Given the description of an element on the screen output the (x, y) to click on. 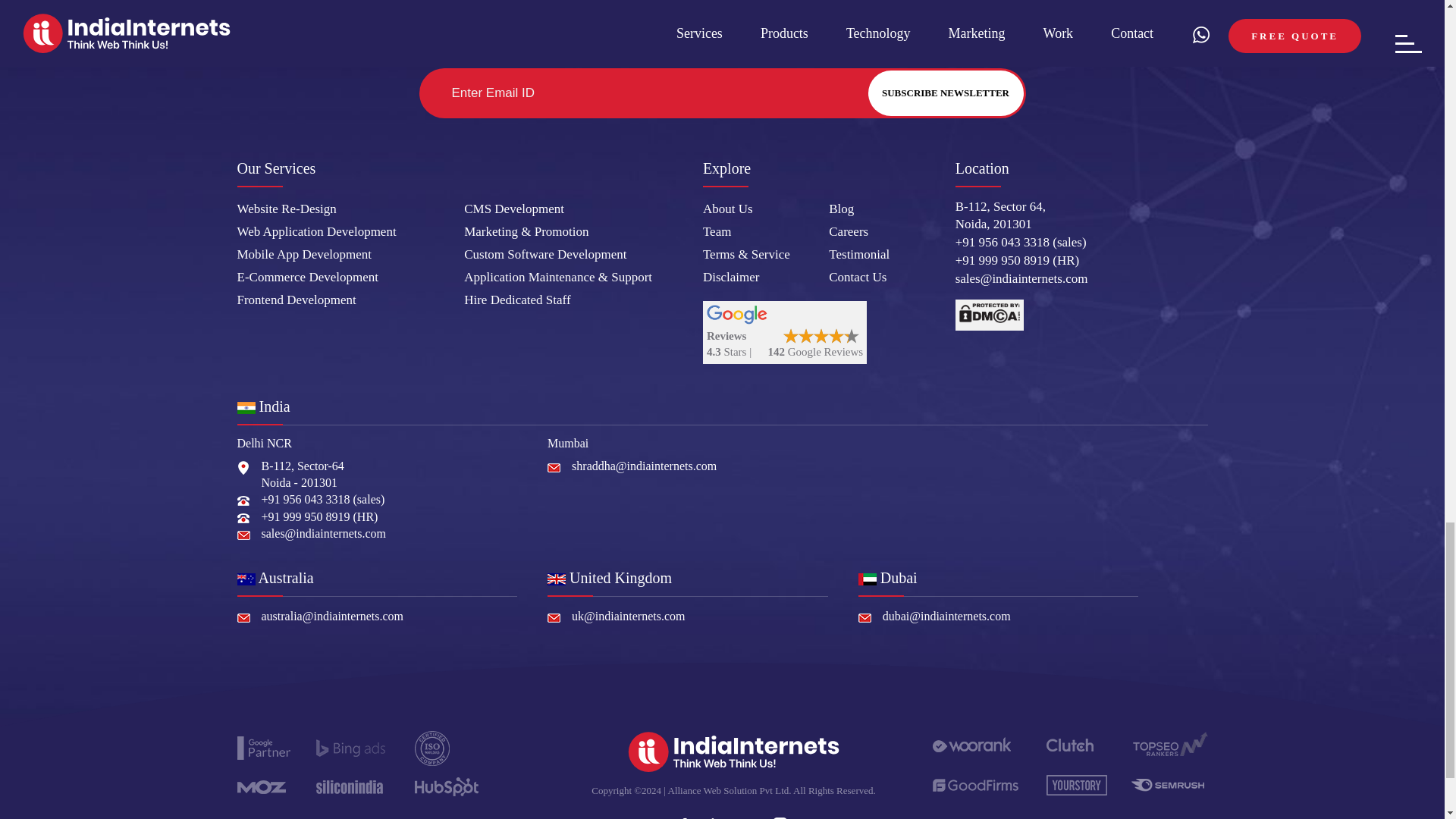
DMCA.com Protection Status (989, 314)
Visit our Pinterest page (747, 814)
Visit our Facebook page (682, 814)
Visit our Instagram page (780, 814)
Visit our LinkedIn page (715, 814)
